Given the description of an element on the screen output the (x, y) to click on. 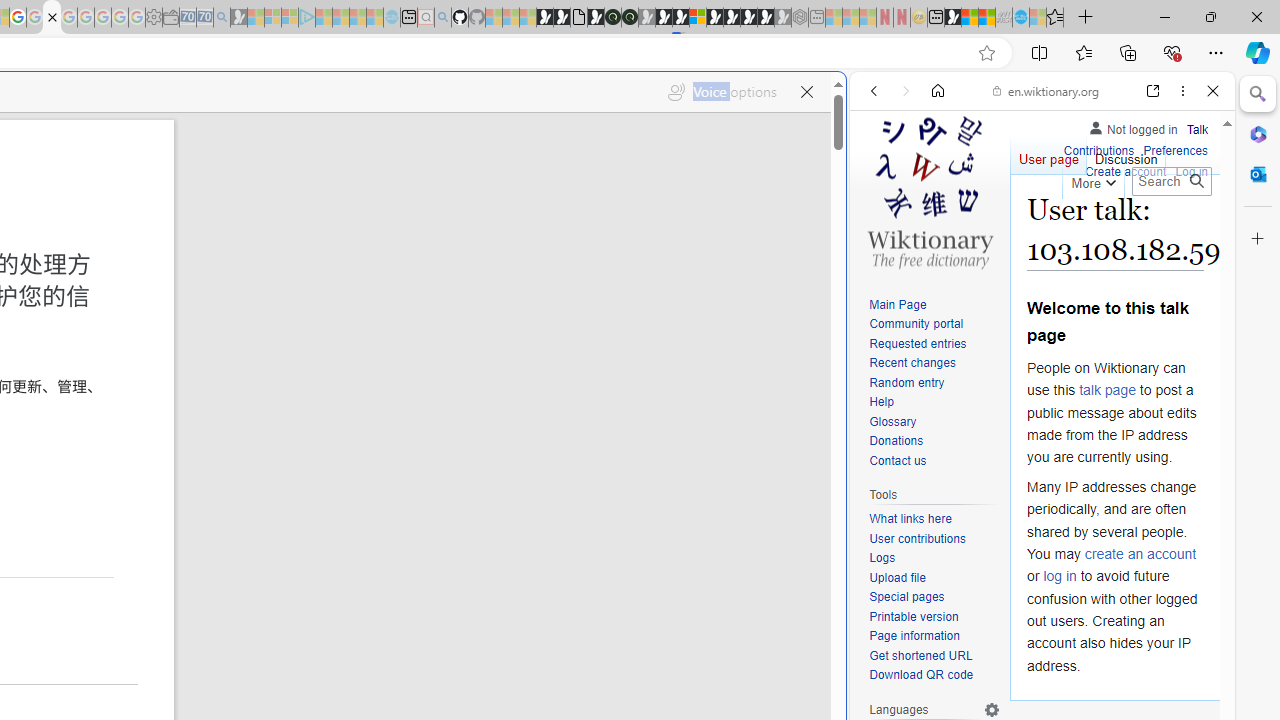
Printable version (934, 616)
Preferences (1189, 228)
Help (934, 403)
User page (1048, 154)
Discussion (1125, 154)
Talk (1197, 129)
Class: b_serphb (1190, 229)
Glossary (934, 421)
